Given the description of an element on the screen output the (x, y) to click on. 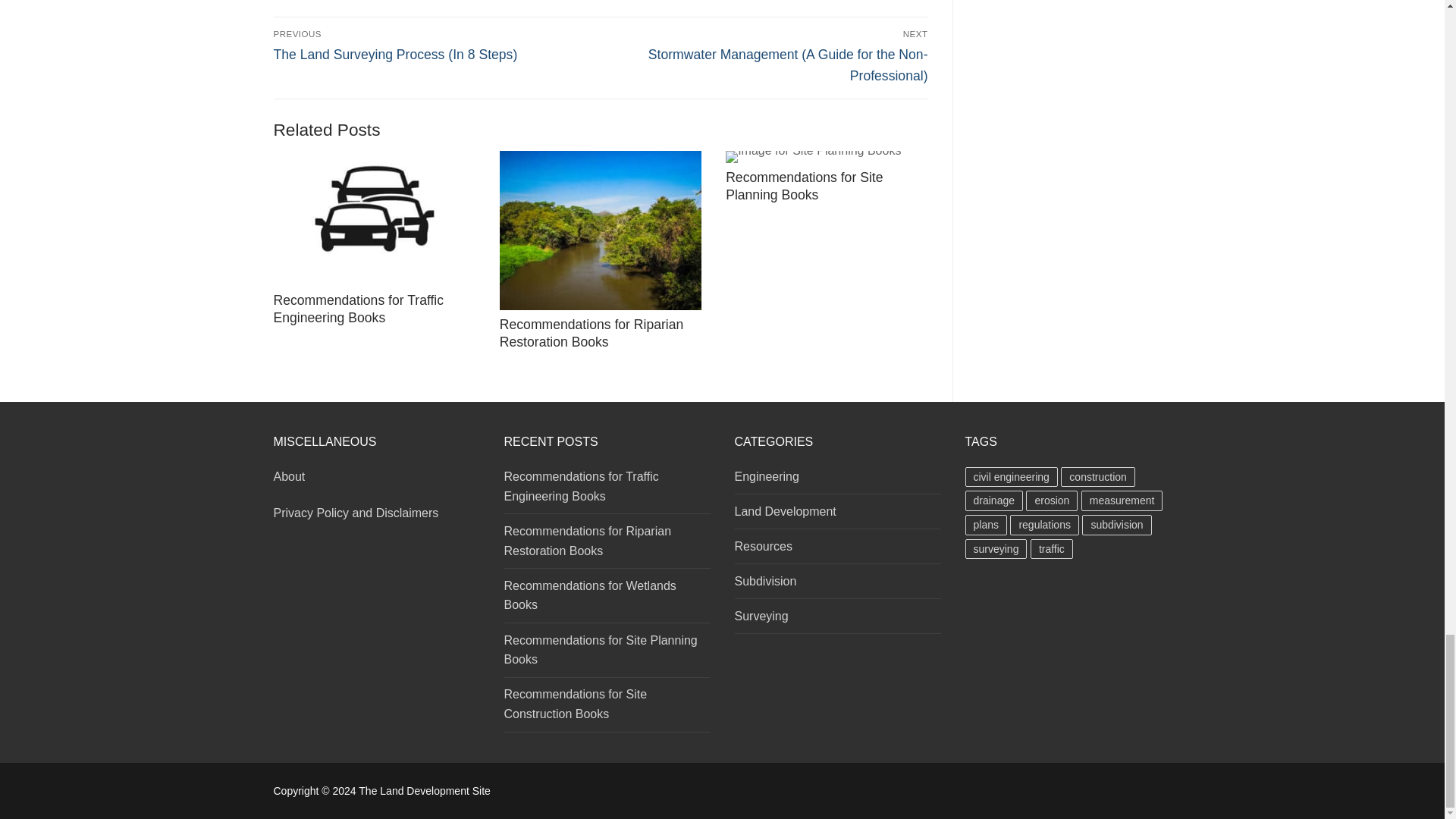
Recommendations for Riparian Restoration Books (600, 230)
Recommendations for Riparian Restoration Books (591, 332)
Recommendations for Traffic Engineering Books (373, 217)
Recommendations for Site Planning Books (826, 156)
Recommendations for Traffic Engineering Books (358, 308)
Recommendations for Site Planning Books (803, 185)
